Given the description of an element on the screen output the (x, y) to click on. 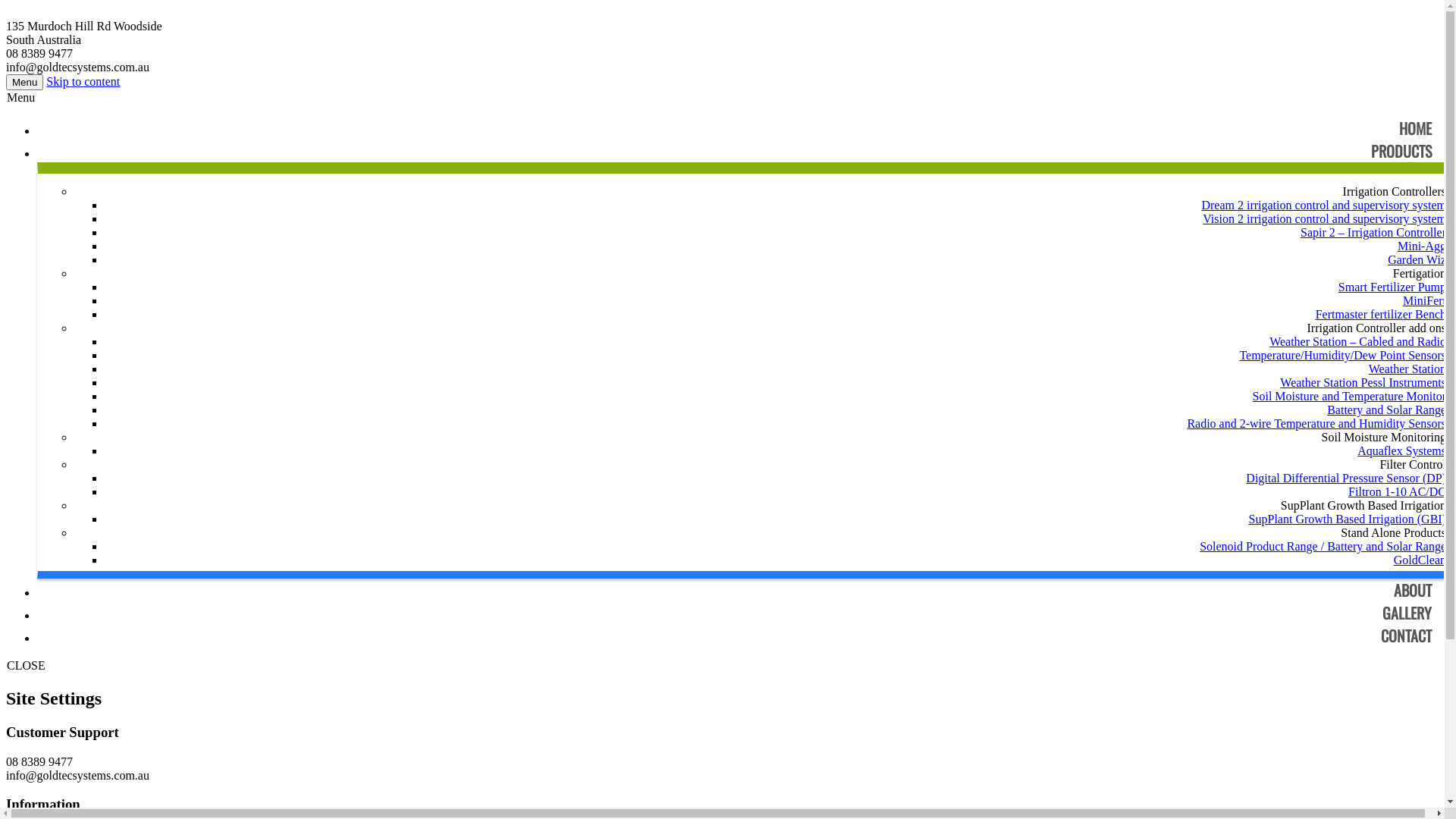
PRODUCTS Element type: text (1401, 150)
SupPlant Growth Based Irrigation Element type: text (1363, 504)
Skip to content Element type: text (82, 81)
Solenoid Product Range / Battery and Solar Range Element type: text (1322, 545)
Fertmaster fertilizer Bench Element type: text (1380, 313)
Menu Element type: text (24, 82)
Garden Wiz Element type: text (1416, 259)
MiniFert Element type: text (1424, 300)
Soil Moisture Monitoring Element type: text (1383, 436)
Fertigation Element type: text (1419, 272)
CONTACT Element type: text (1406, 635)
Weather Station Element type: text (1407, 368)
Temperature/Humidity/Dew Point Sensors Element type: text (1342, 354)
Filter Control Element type: text (1412, 464)
Weather Station Pessl Instruments Element type: text (1363, 382)
Mini-Agg Element type: text (1421, 245)
SupPlant Growth Based Irrigation (GBI) Element type: text (1347, 518)
Soil Moisture and Temperature Monitor Element type: text (1349, 395)
GALLERY Element type: text (1406, 612)
Digital Differential Pressure Sensor (DP) Element type: text (1345, 477)
ABOUT Element type: text (1412, 589)
Vision 2 irrigation control and supervisory system Element type: text (1324, 218)
Aquaflex Systems Element type: text (1401, 450)
Stand Alone Products Element type: text (1393, 532)
Irrigation Controllers Element type: text (1394, 191)
Battery and Solar Range Element type: text (1386, 409)
Filtron 1-10 AC/DC Element type: text (1397, 491)
Irrigation Controller add ons Element type: text (1376, 327)
Smart Fertilizer Pump Element type: text (1392, 286)
Goldtec Element type: hover (722, 12)
GoldClean Element type: text (1419, 559)
Dream 2 irrigation control and supervisory system Element type: text (1323, 204)
Radio and 2-wire Temperature and Humidity Sensors Element type: text (1316, 423)
HOME Element type: text (1415, 128)
